Given the description of an element on the screen output the (x, y) to click on. 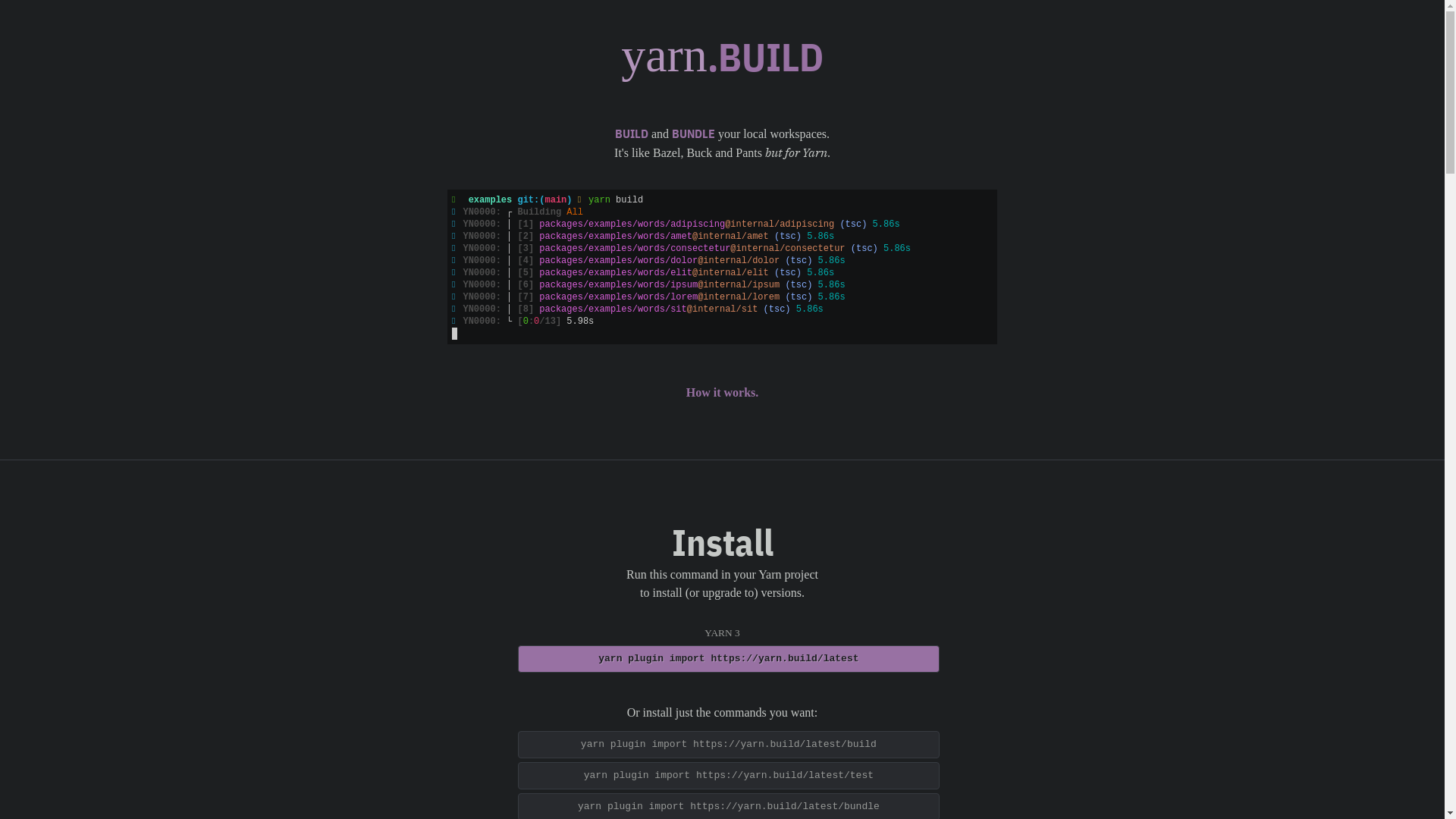
yarn plugin import https://yarn.build/latest/build Element type: text (728, 744)
yarn plugin import https://yarn.build/latest Element type: text (728, 658)
BUNDLE Element type: text (693, 133)
BUILD Element type: text (631, 133)
yarn plugin import https://yarn.build/latest/test Element type: text (728, 775)
How it works. Element type: text (722, 392)
